Given the description of an element on the screen output the (x, y) to click on. 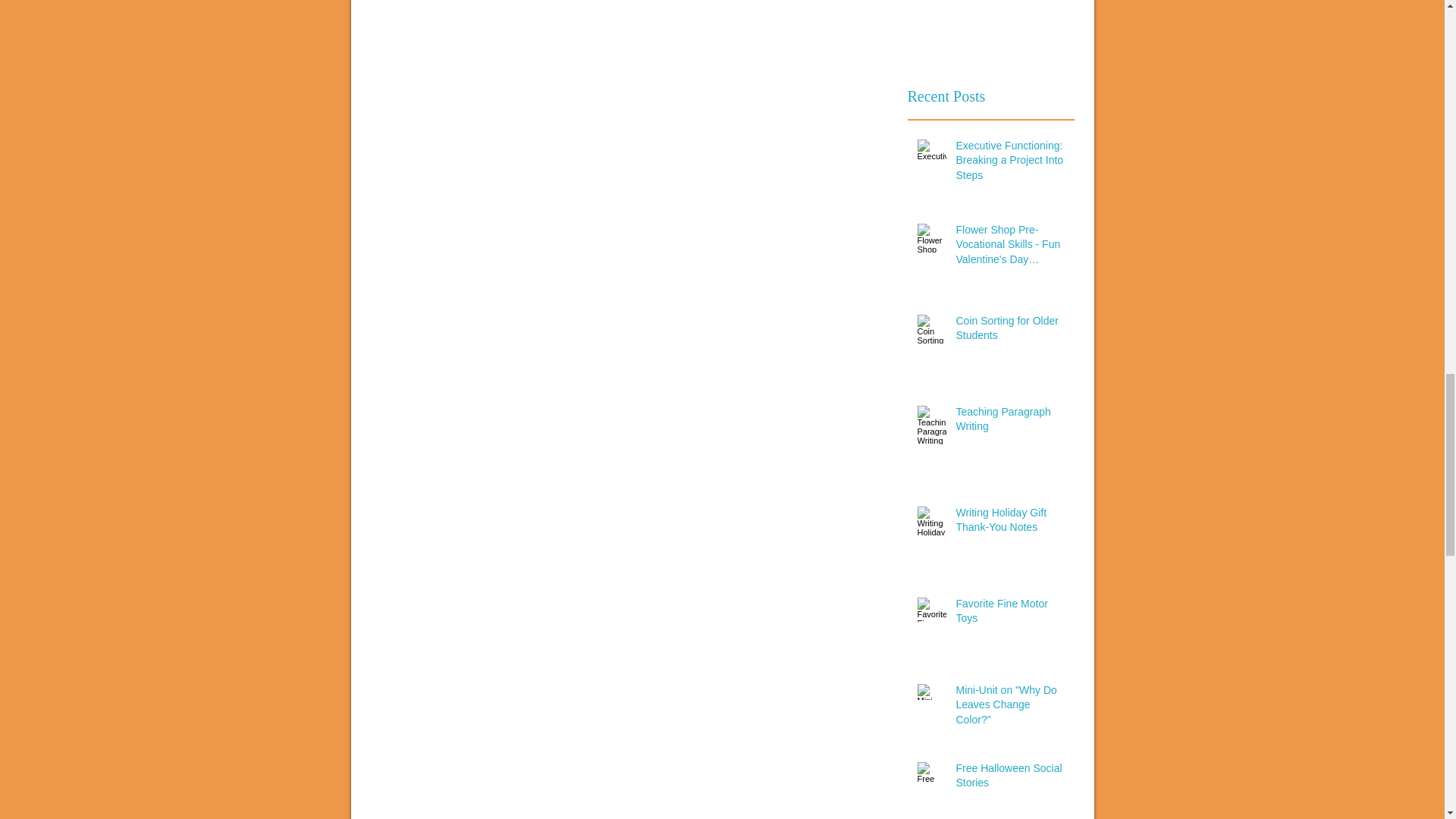
Executive Functioning: Breaking a Project Into Steps (1009, 163)
Favorite Fine Motor Toys (1009, 614)
Work with Dr. Caldwell (990, 32)
Writing Holiday Gift Thank-You Notes (1009, 523)
Teaching Paragraph Writing (1009, 422)
Work with Dr. Caldwell (990, 32)
Coin Sorting for Older Students (1009, 331)
